Given the description of an element on the screen output the (x, y) to click on. 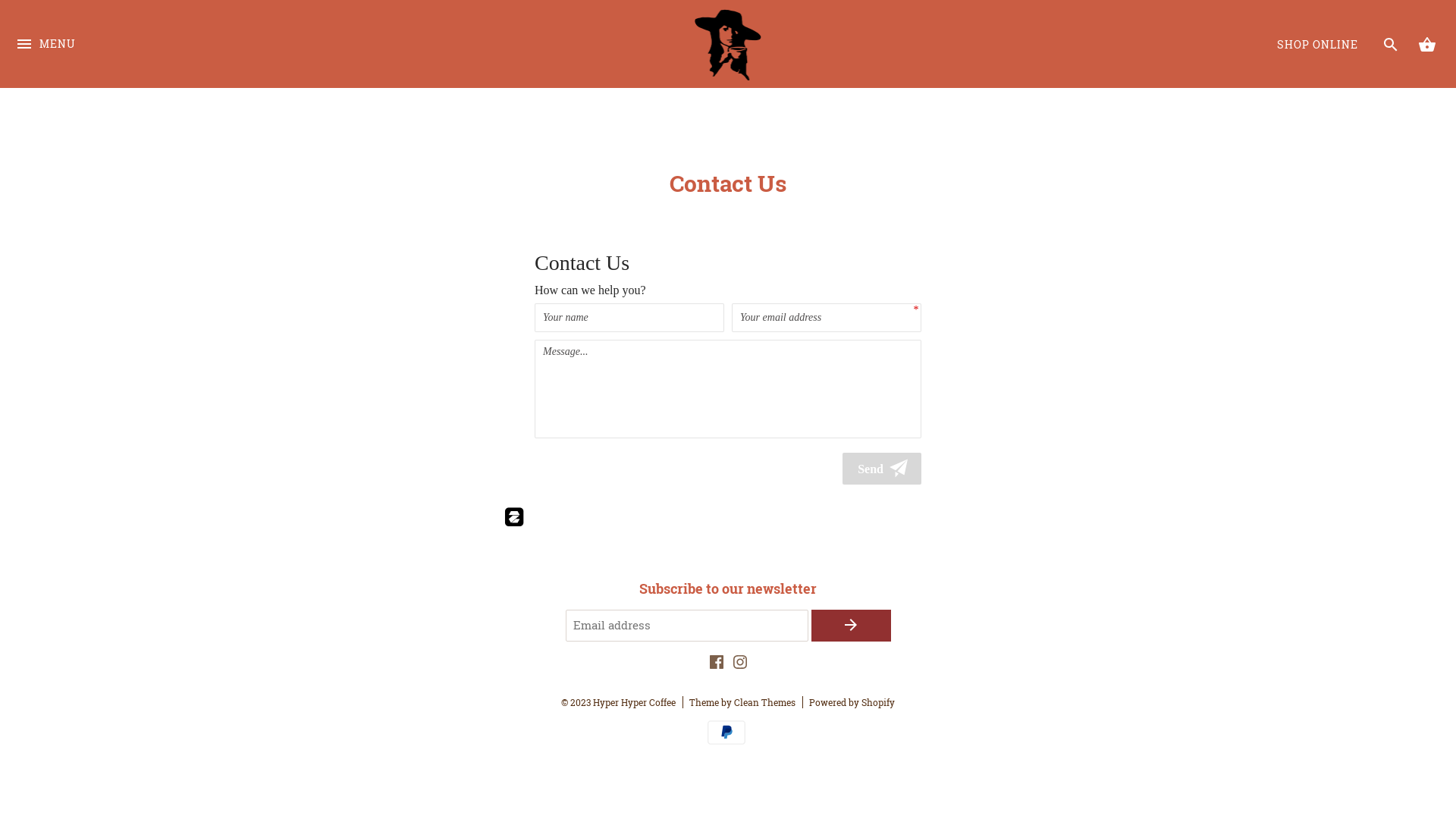
SHOP ONLINE Element type: text (1317, 44)
Facebook Element type: hover (716, 664)
Contact Us Element type: hover (727, 370)
MENU Element type: text (45, 60)
SEARCH Element type: text (1390, 43)
Hyper Hyper Coffee Element type: text (634, 702)
CART Element type: text (1426, 43)
Clean Themes Element type: text (764, 702)
Instagram Element type: hover (739, 664)
Powered by Shopify Element type: text (851, 702)
Zotabox Element type: hover (514, 511)
